Given the description of an element on the screen output the (x, y) to click on. 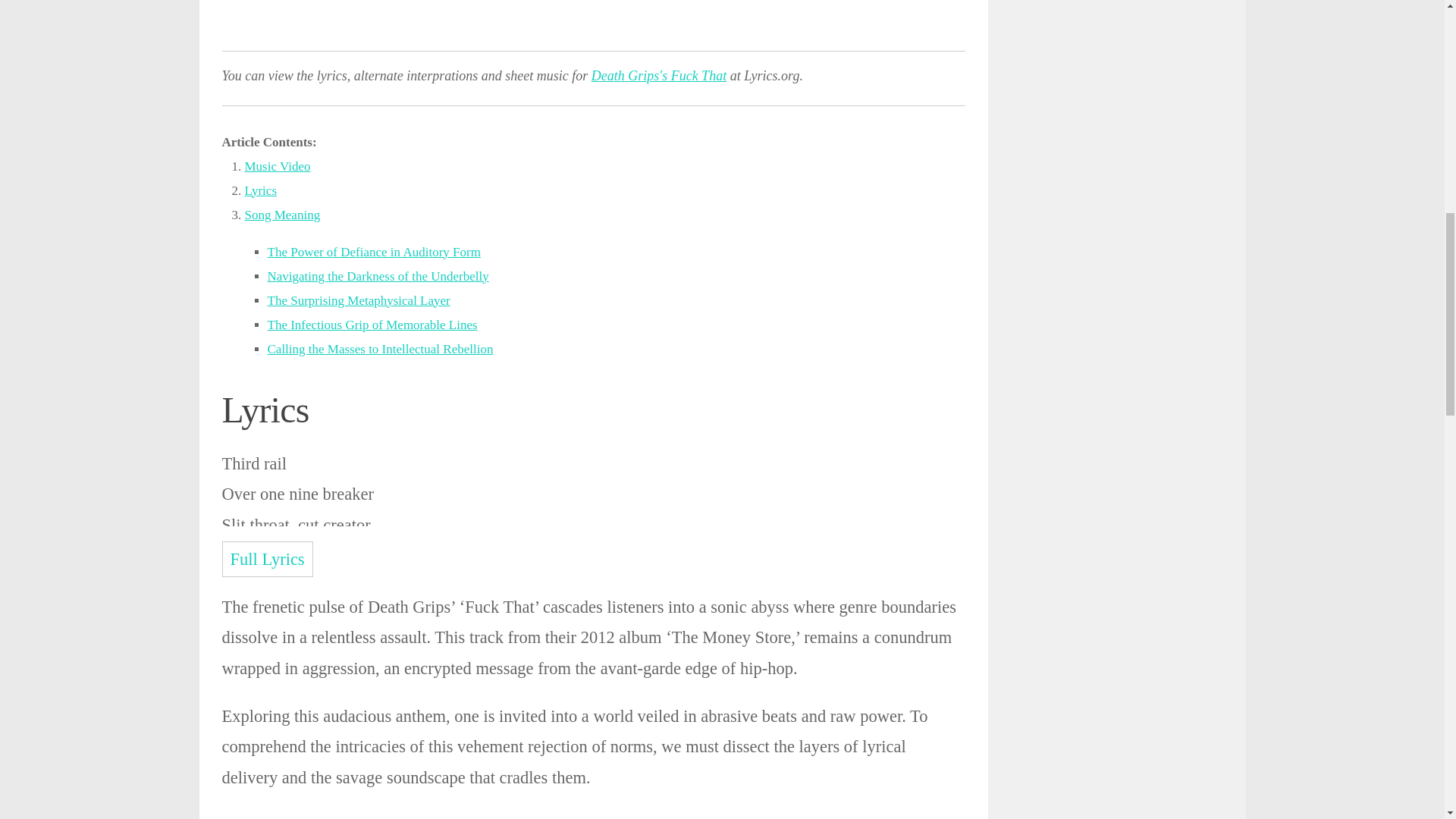
The Infectious Grip of Memorable Lines (371, 324)
Death Grips's Fuck That (658, 75)
Lyrics (260, 190)
Song Meaning (282, 214)
Music Video (277, 165)
The Power of Defiance in Auditory Form (373, 251)
The Surprising Metaphysical Layer (357, 300)
Navigating the Darkness of the Underbelly (376, 276)
Full Lyrics (267, 559)
Calling the Masses to Intellectual Rebellion (379, 349)
